Given the description of an element on the screen output the (x, y) to click on. 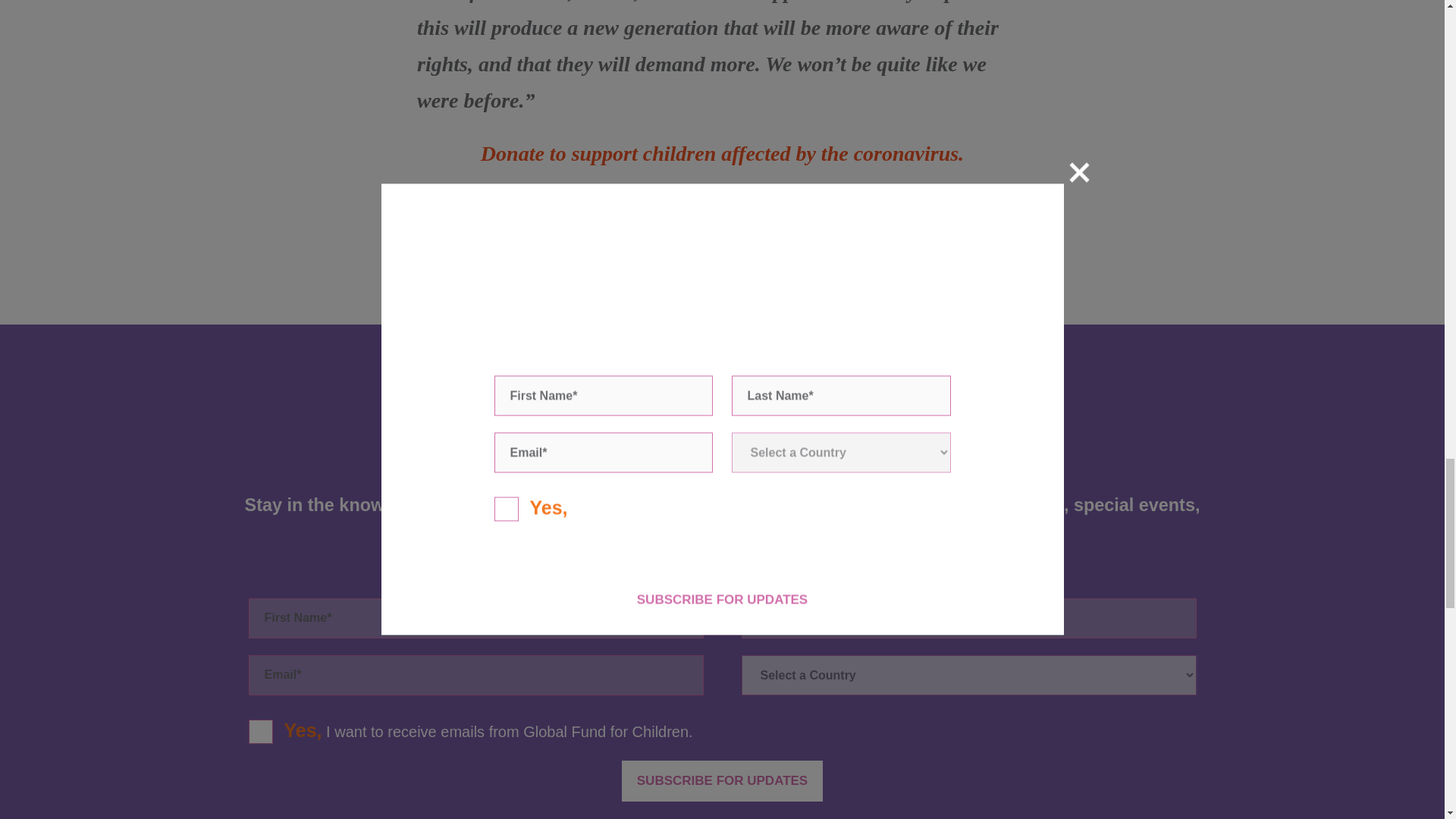
Subscribe for updates (721, 780)
agree (256, 728)
